Given the description of an element on the screen output the (x, y) to click on. 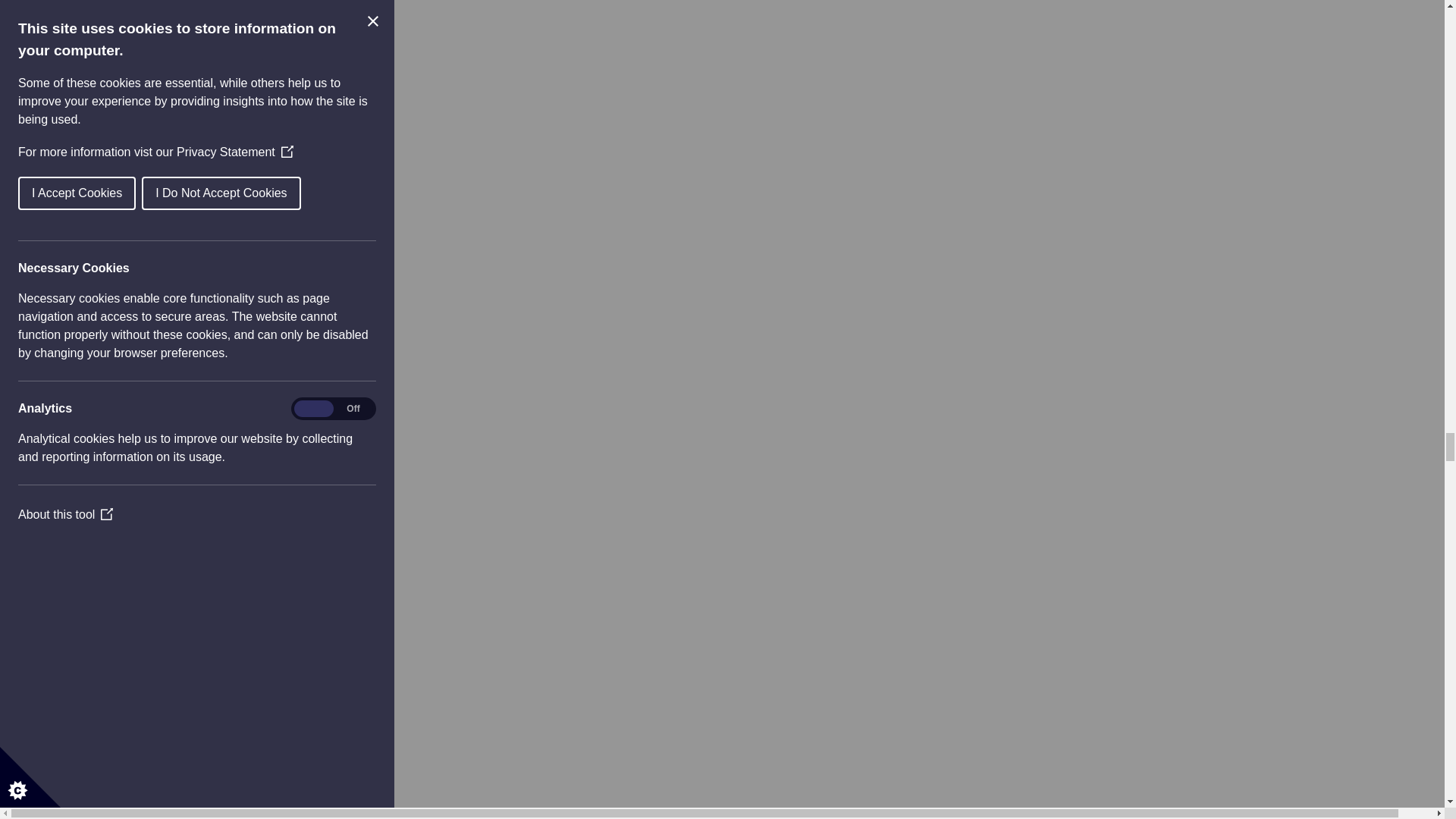
01 (92, 818)
01 (92, 233)
